Given the description of an element on the screen output the (x, y) to click on. 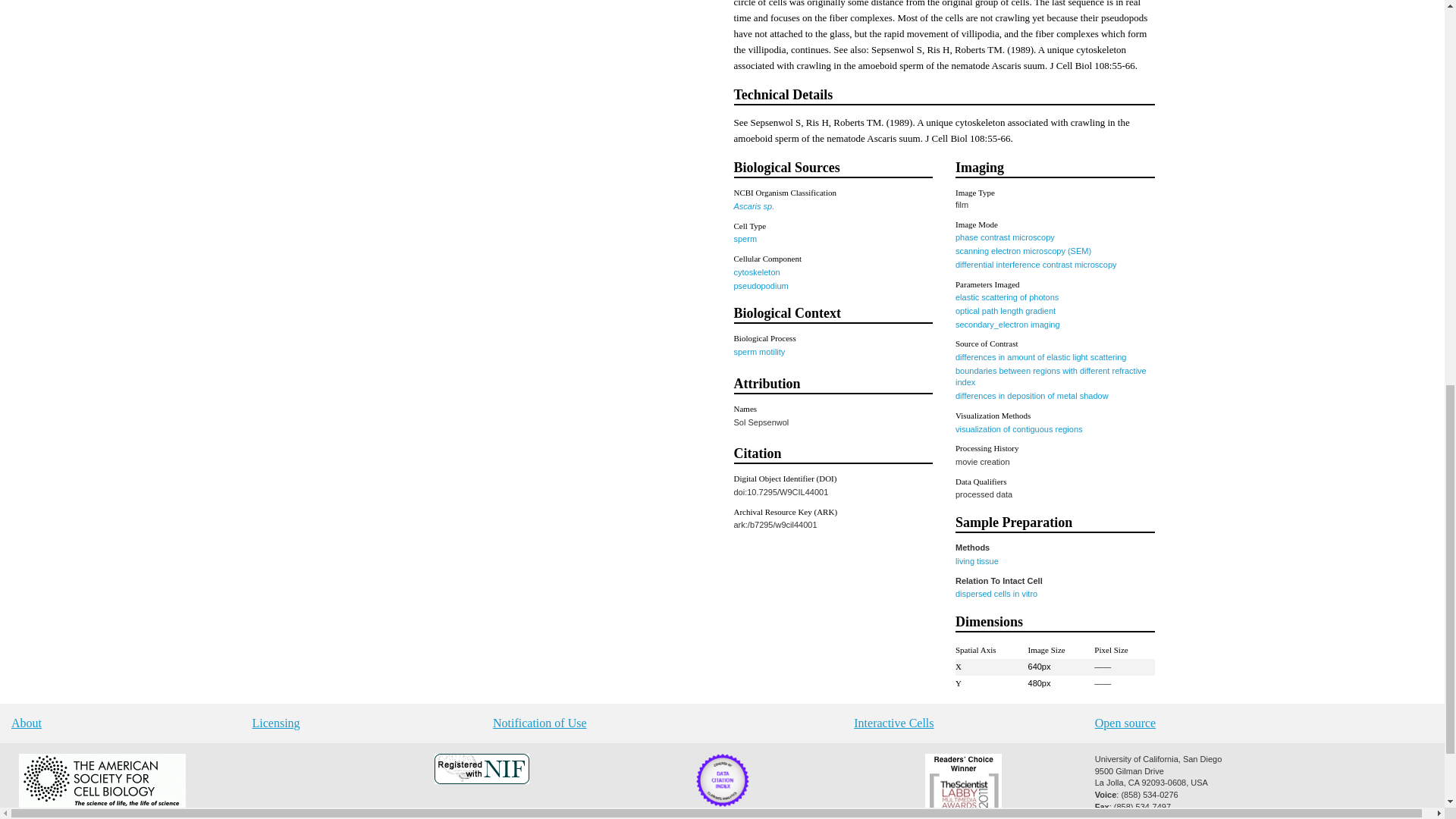
differences in amount of elastic light scattering (1040, 356)
sperm motility (759, 351)
phase contrast microscopy (1004, 236)
Data Citation Index (722, 803)
pseudopodium (761, 284)
Ascaris sp. (753, 205)
differential interference contrast microscopy (1035, 264)
optical path length gradient (1005, 310)
sperm (745, 238)
cytoskeleton (756, 271)
